Given the description of an element on the screen output the (x, y) to click on. 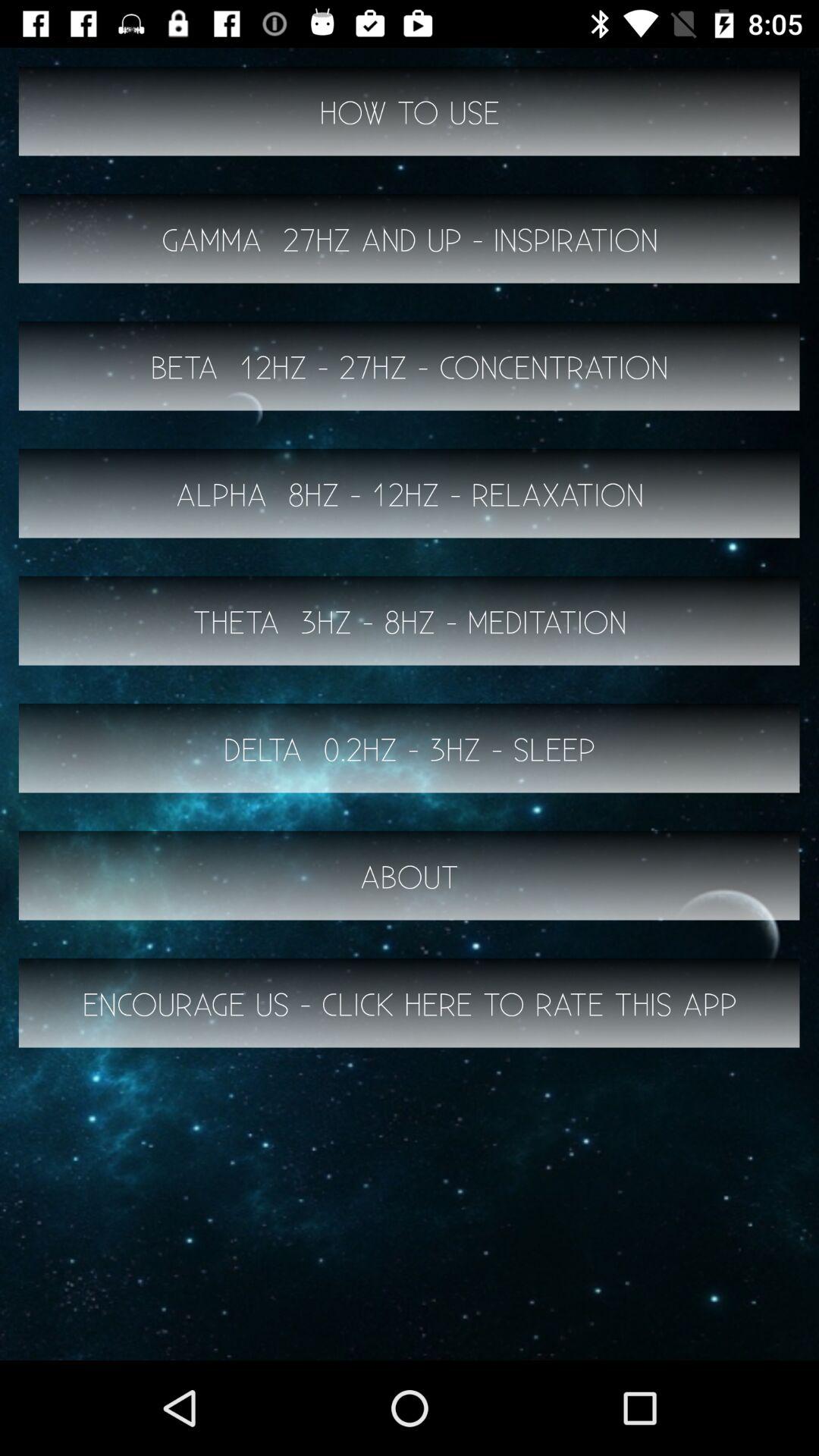
scroll until theta 3hz 8hz button (409, 620)
